Given the description of an element on the screen output the (x, y) to click on. 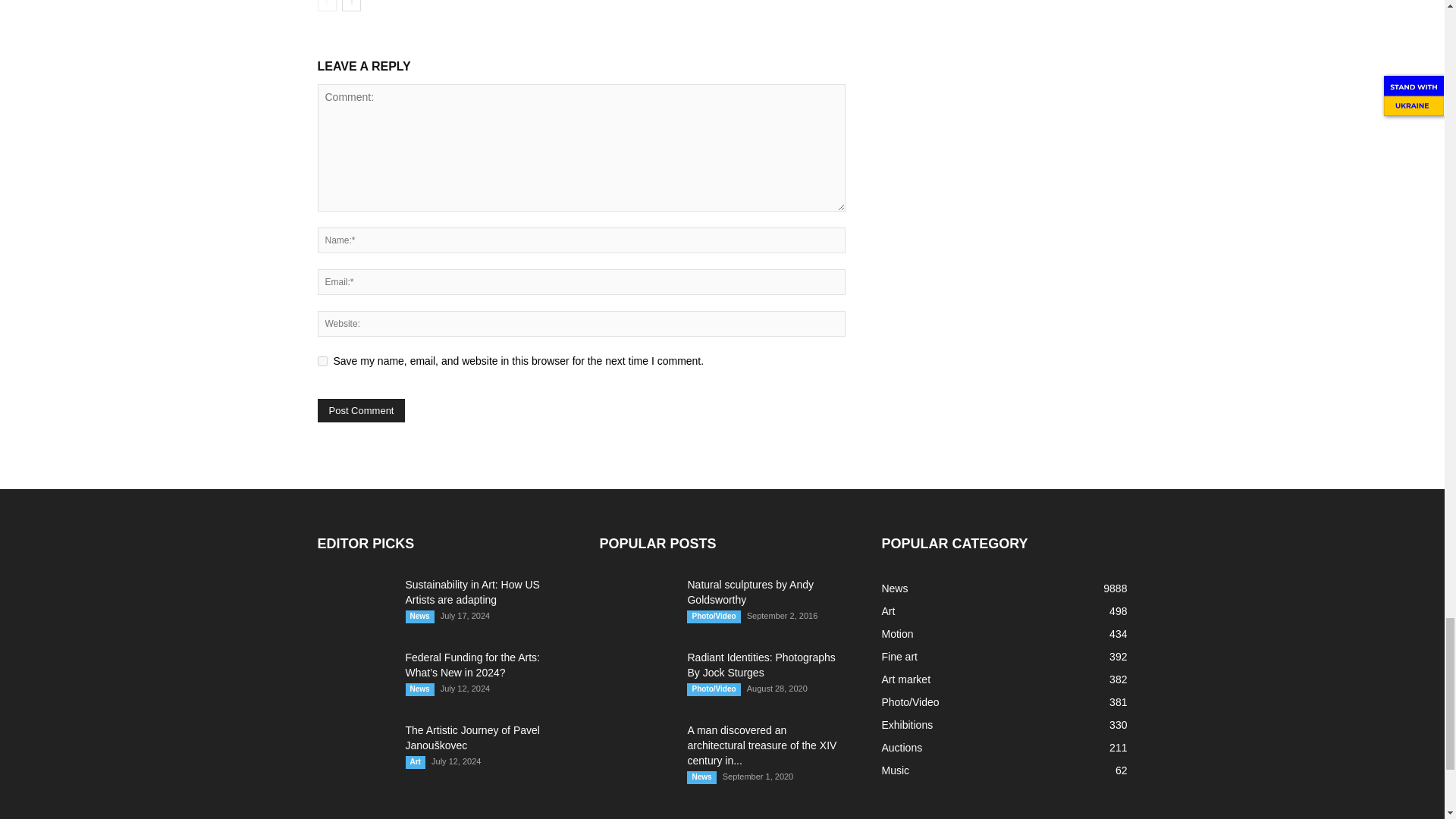
Post Comment (360, 410)
yes (321, 361)
